Given the description of an element on the screen output the (x, y) to click on. 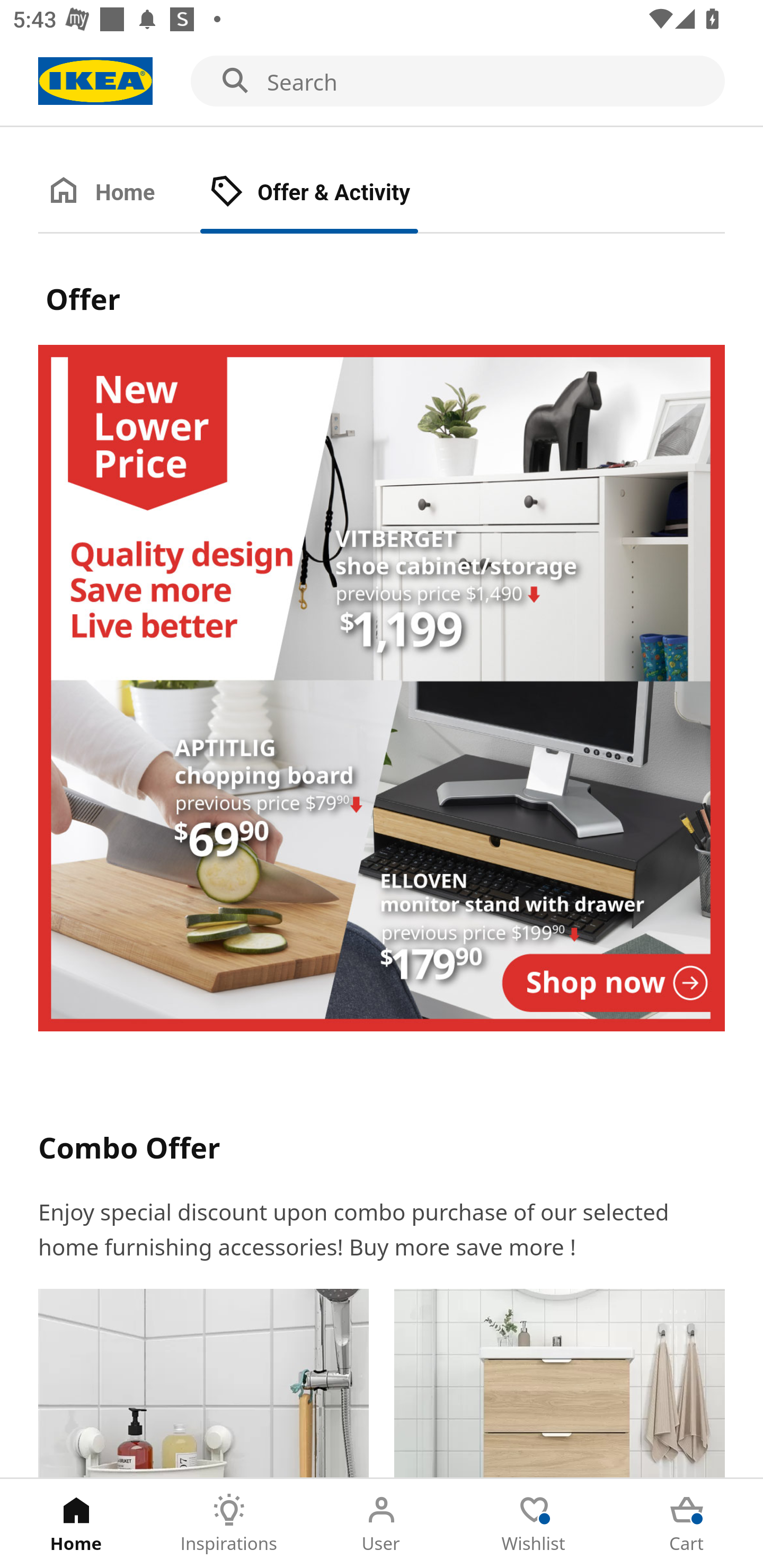
Search (381, 81)
Home
Tab 1 of 2 (118, 192)
Offer & Activity
Tab 2 of 2 (327, 192)
Home
Tab 1 of 5 (76, 1522)
Inspirations
Tab 2 of 5 (228, 1522)
User
Tab 3 of 5 (381, 1522)
Wishlist
Tab 4 of 5 (533, 1522)
Cart
Tab 5 of 5 (686, 1522)
